Given the description of an element on the screen output the (x, y) to click on. 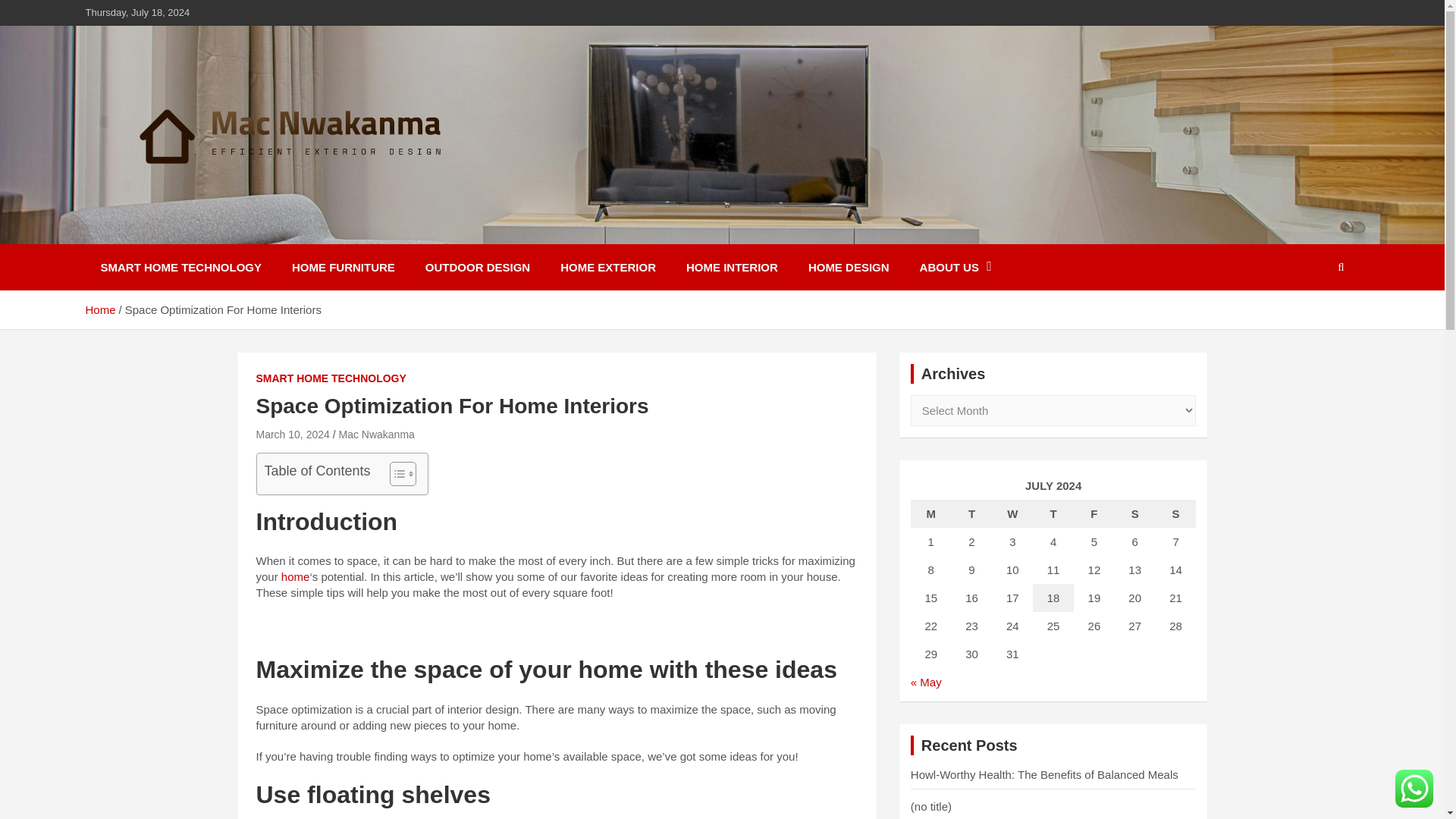
March 10, 2024 (293, 434)
HOME FURNITURE (343, 267)
OUTDOOR DESIGN (477, 267)
Thursday (1053, 513)
Friday (1094, 513)
HOME DESIGN (848, 267)
Monday (931, 513)
SMART HOME TECHNOLOGY (180, 267)
Wednesday (1011, 513)
Home (99, 309)
Space Optimization For Home Interiors (293, 434)
ABOUT US (955, 267)
SMART HOME TECHNOLOGY (331, 378)
Mac Nwakanma (375, 434)
Saturday (1135, 513)
